Given the description of an element on the screen output the (x, y) to click on. 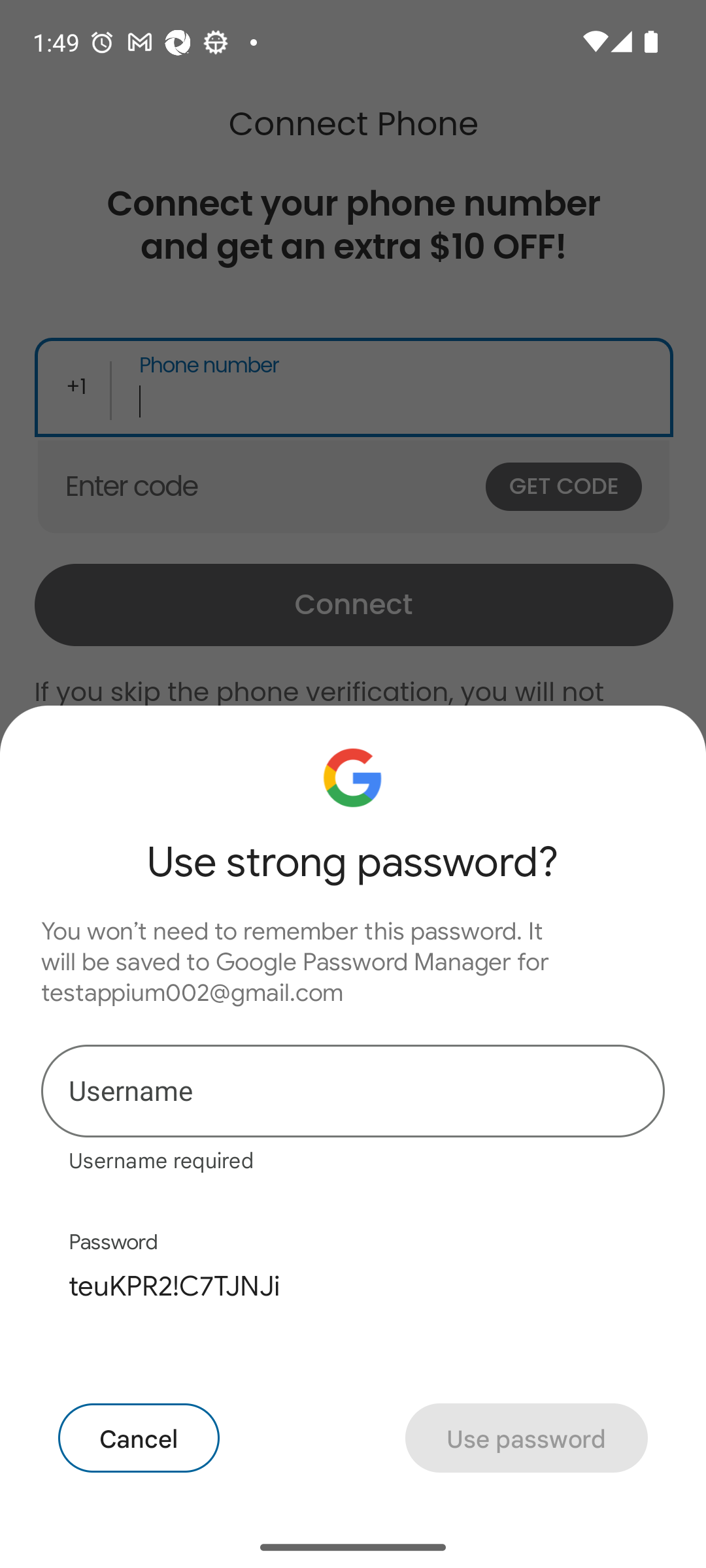
Username (352, 1090)
teuKPR2!C7TJNJi Generated Password (352, 1285)
Cancel (138, 1437)
Use password (526, 1437)
